Given the description of an element on the screen output the (x, y) to click on. 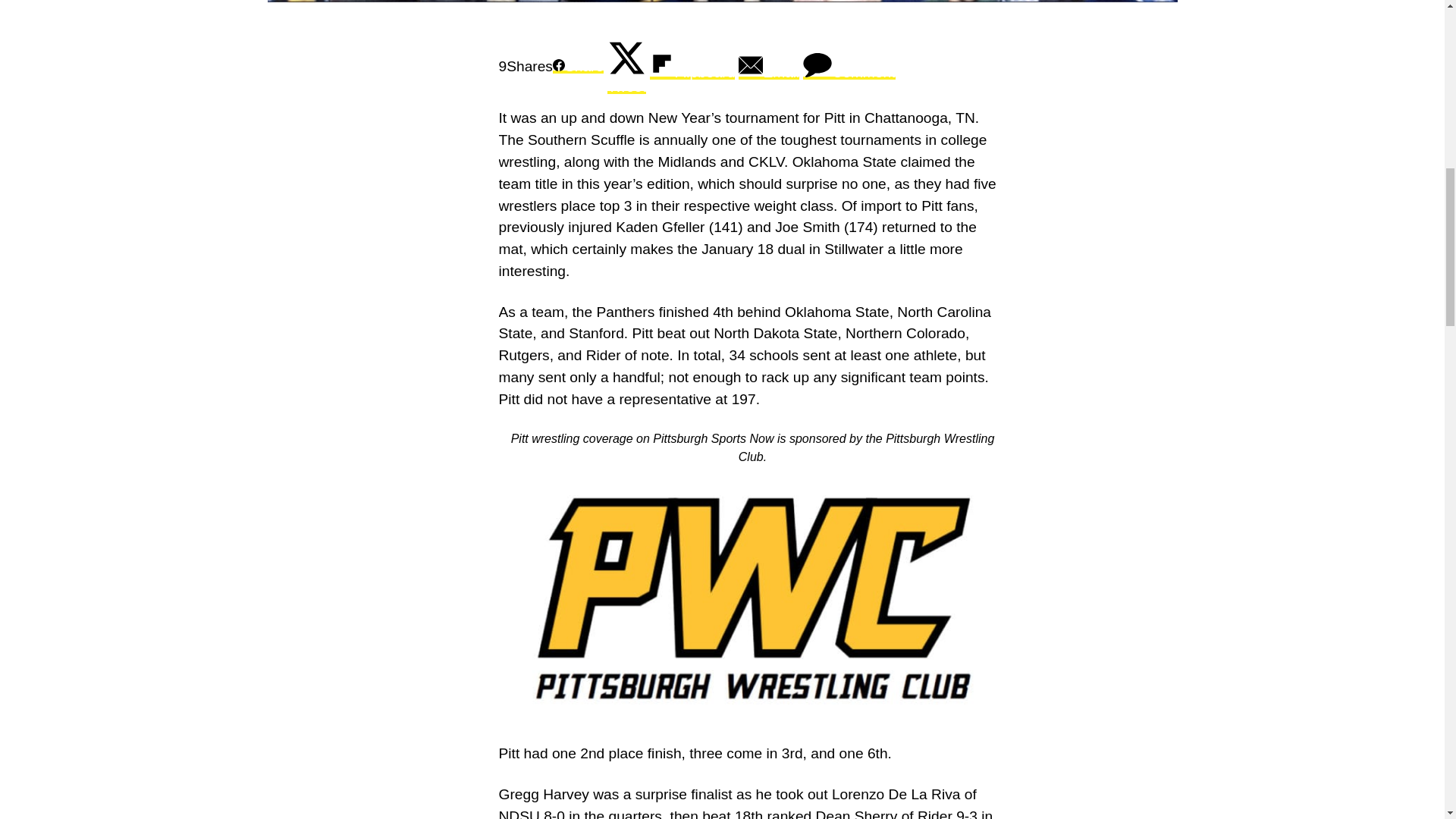
Share on Email (768, 66)
Share on Comment (849, 66)
Share on Flipboard (692, 66)
Share on Share (578, 65)
